Given the description of an element on the screen output the (x, y) to click on. 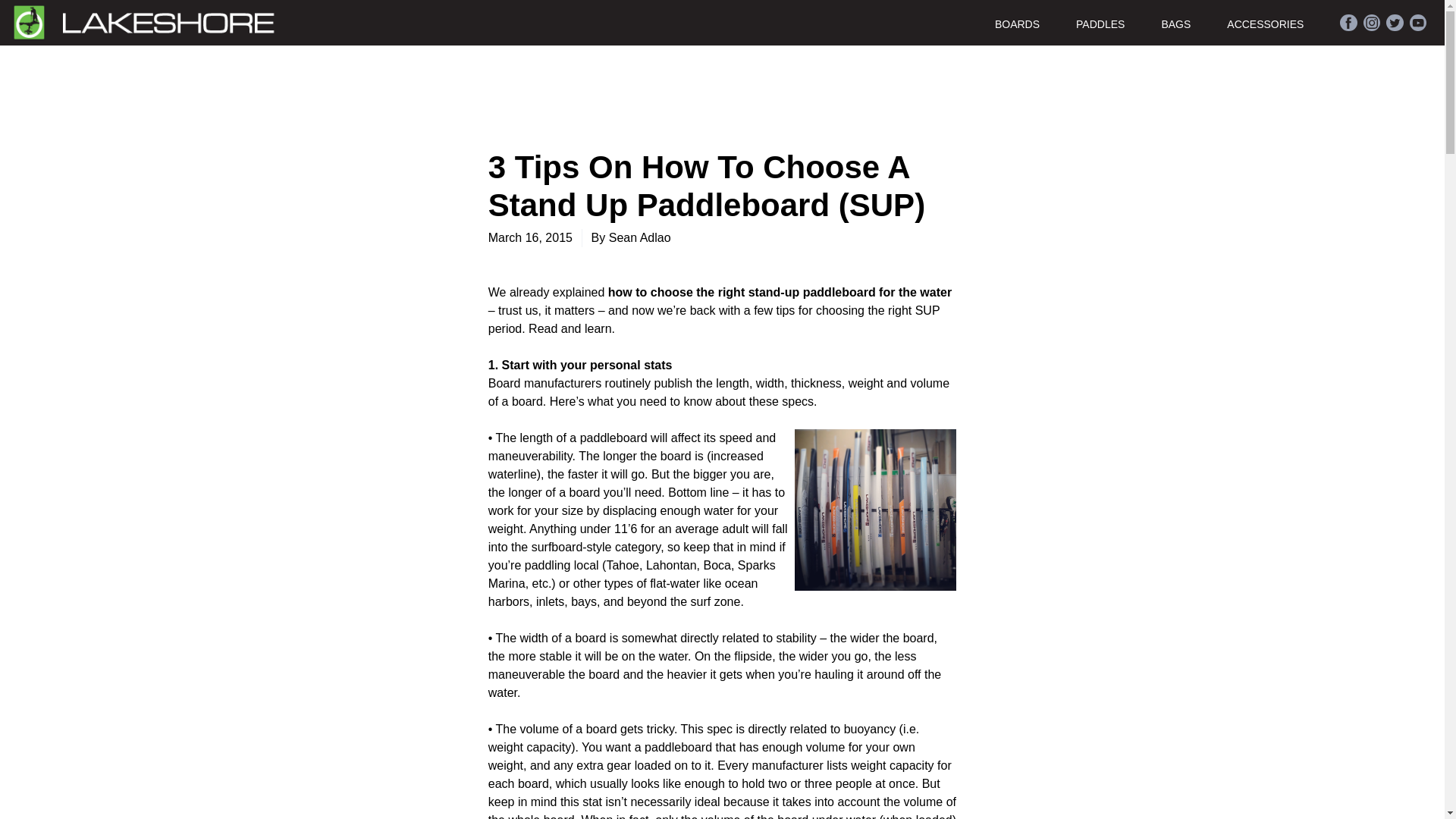
BAGS (1193, 22)
BOARDS (1034, 22)
PADDLES (1117, 22)
how to choose the right stand-up paddleboard for the water (780, 291)
Choose Wisely (780, 291)
Sean Adlao (639, 237)
ACCESSORIES (1283, 22)
